Given the description of an element on the screen output the (x, y) to click on. 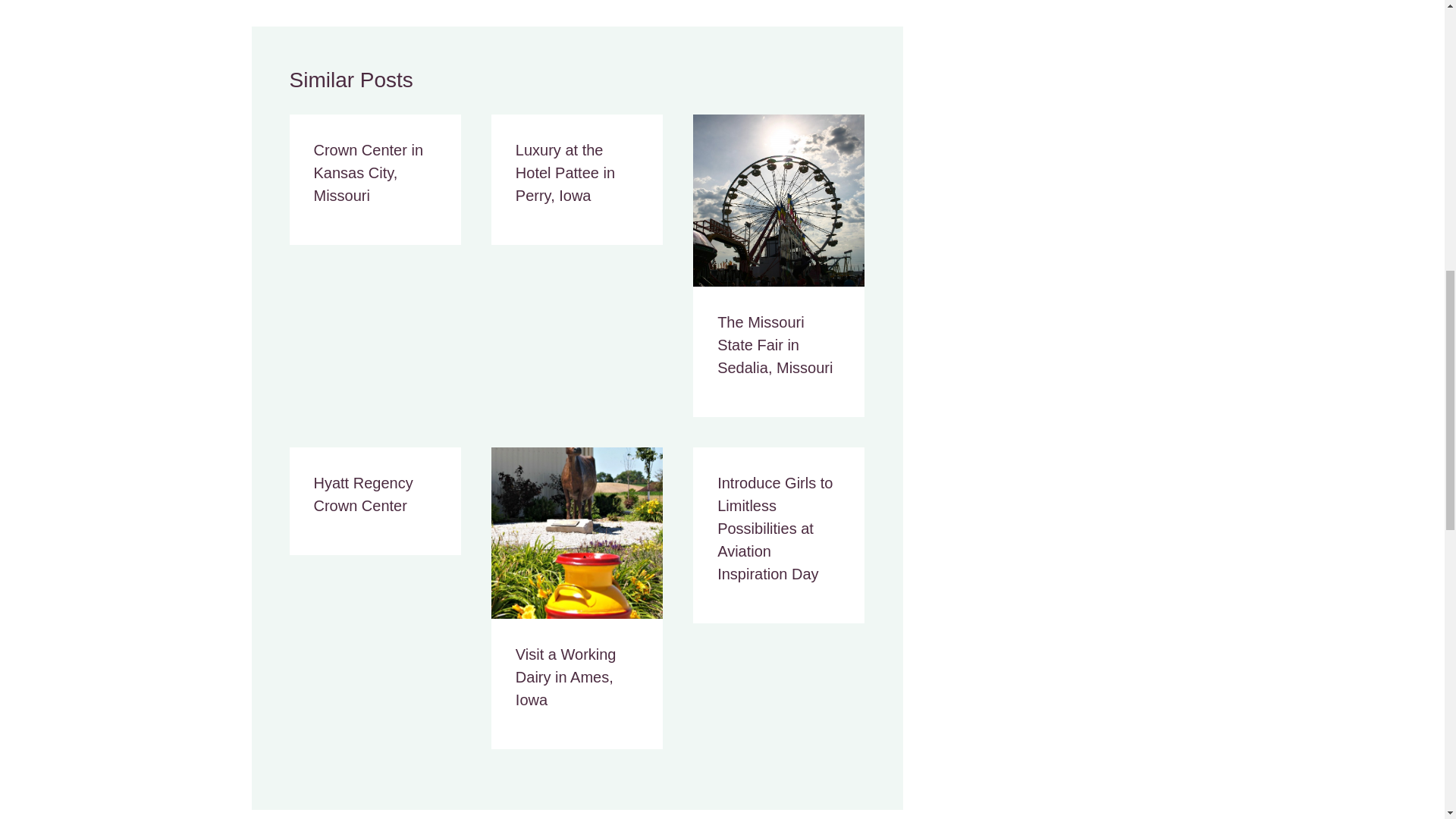
The Missouri State Fair in Sedalia, Missouri (774, 344)
Luxury at the Hotel Pattee in Perry, Iowa (564, 172)
Visit a Working Dairy in Ames, Iowa (565, 677)
Hyatt Regency Crown Center (363, 494)
Crown Center in Kansas City, Missouri (368, 172)
